Given the description of an element on the screen output the (x, y) to click on. 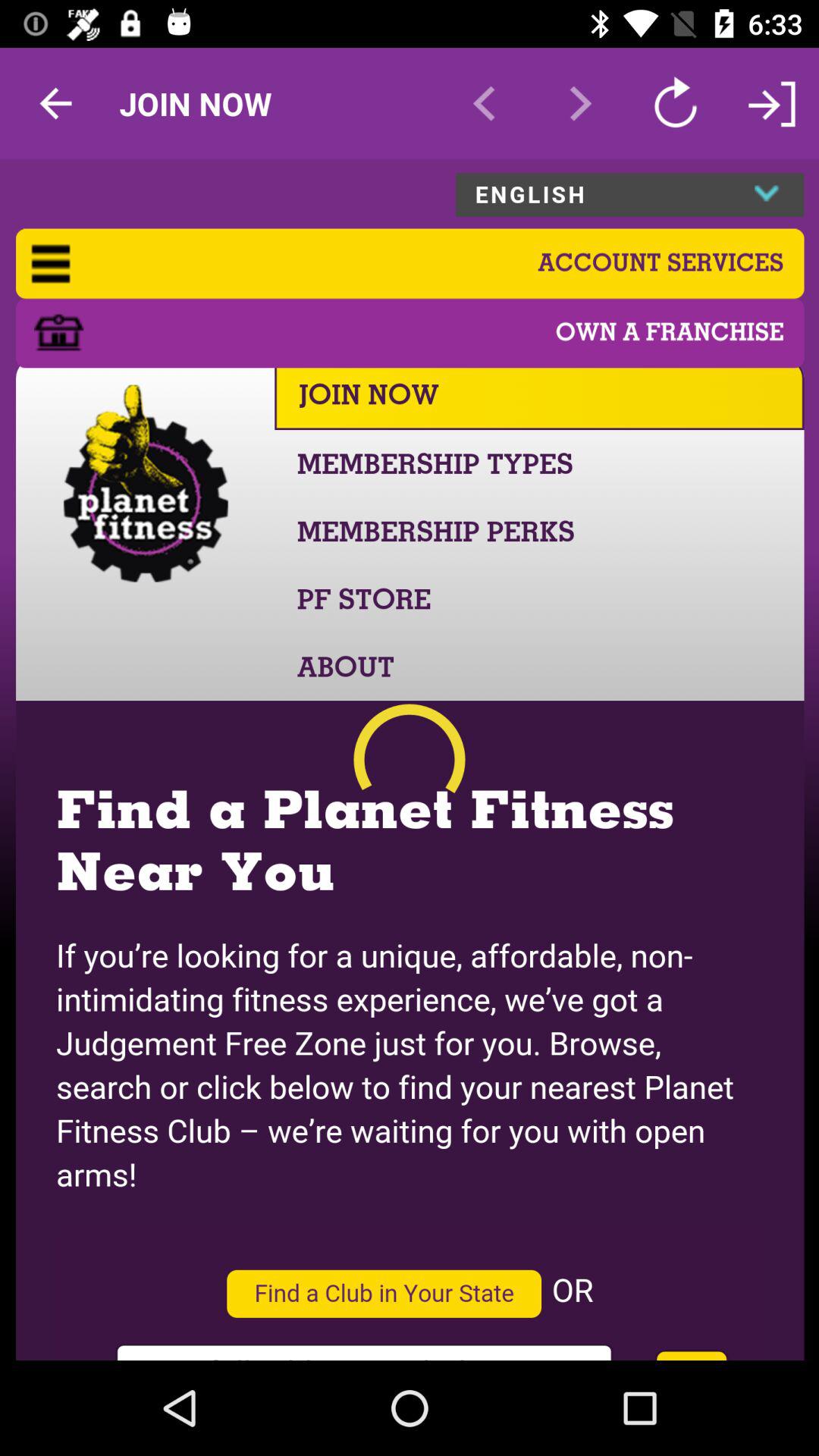
connect to planet fitness (409, 759)
